Given the description of an element on the screen output the (x, y) to click on. 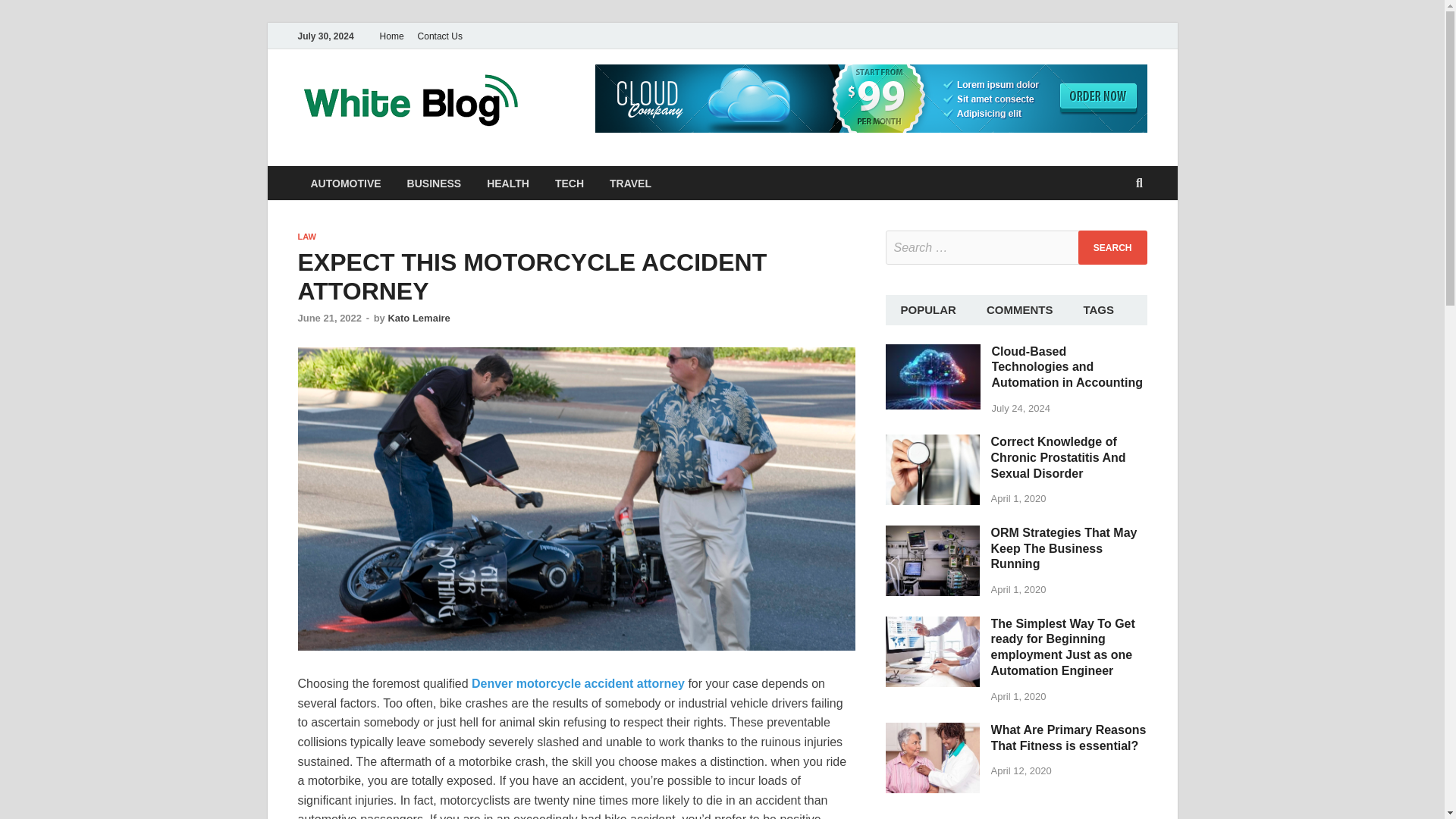
Search (1112, 247)
TRAVEL (629, 182)
June 21, 2022 (329, 317)
BUSINESS (434, 182)
What Are Primary Reasons That Fitness is essential? (932, 730)
Cloud-Based Technologies and Automation in Accounting (932, 351)
TECH (568, 182)
Correct Knowledge of Chronic Prostatitis And Sexual Disorder (932, 442)
ORM Strategies That May Keep The Business Running (1064, 548)
whiteblog (600, 100)
HEALTH (507, 182)
Search (1112, 247)
Contact Us (439, 35)
TAGS (1098, 309)
Search (1112, 247)
